Given the description of an element on the screen output the (x, y) to click on. 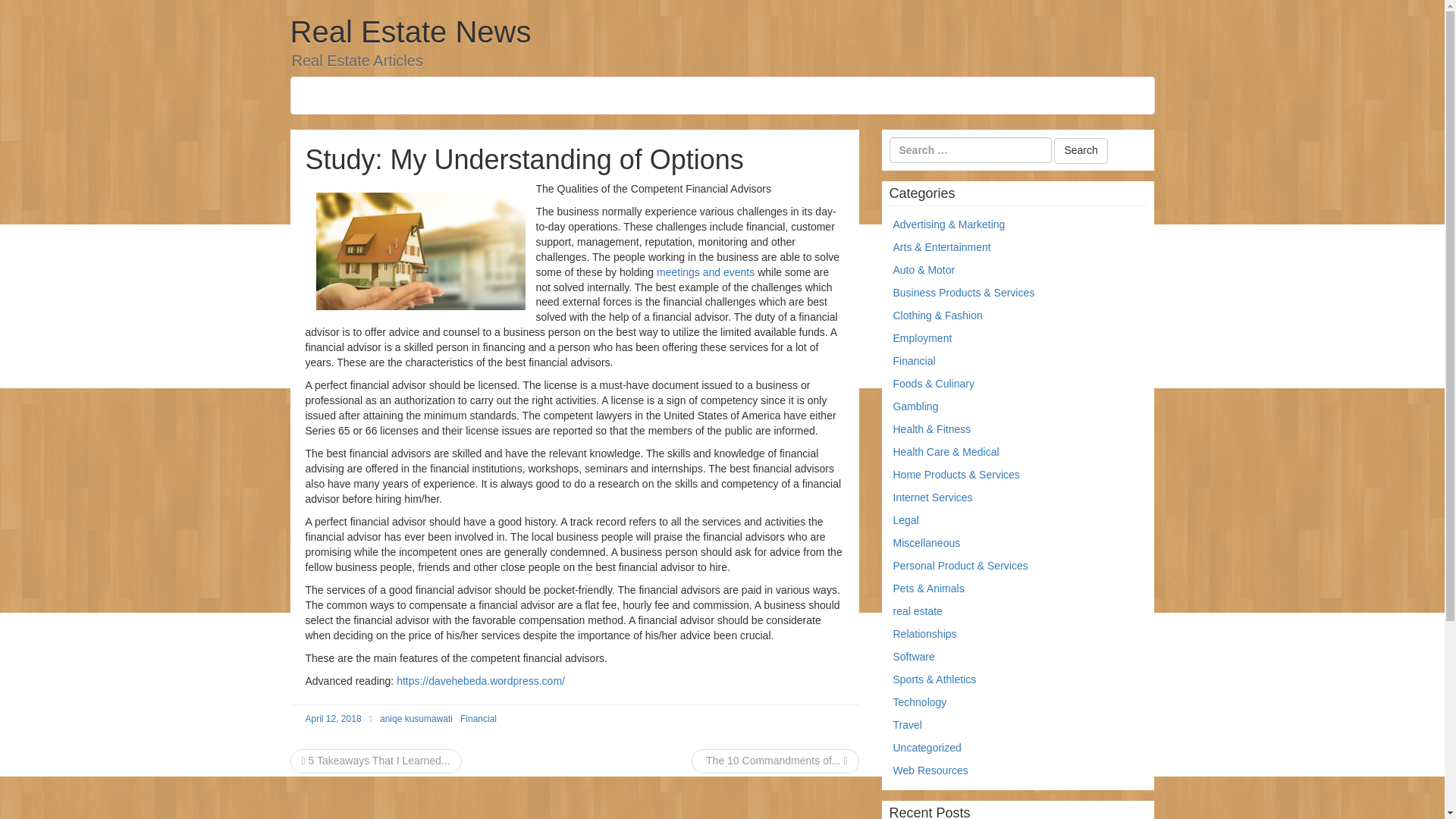
Search (1080, 150)
Employment (922, 337)
Search for: (969, 149)
Miscellaneous (926, 542)
real estate (917, 611)
Financial (478, 718)
 The 10 Commandments of...  (775, 760)
Search (1080, 150)
Internet Services (932, 497)
Real Estate News (410, 31)
